Given the description of an element on the screen output the (x, y) to click on. 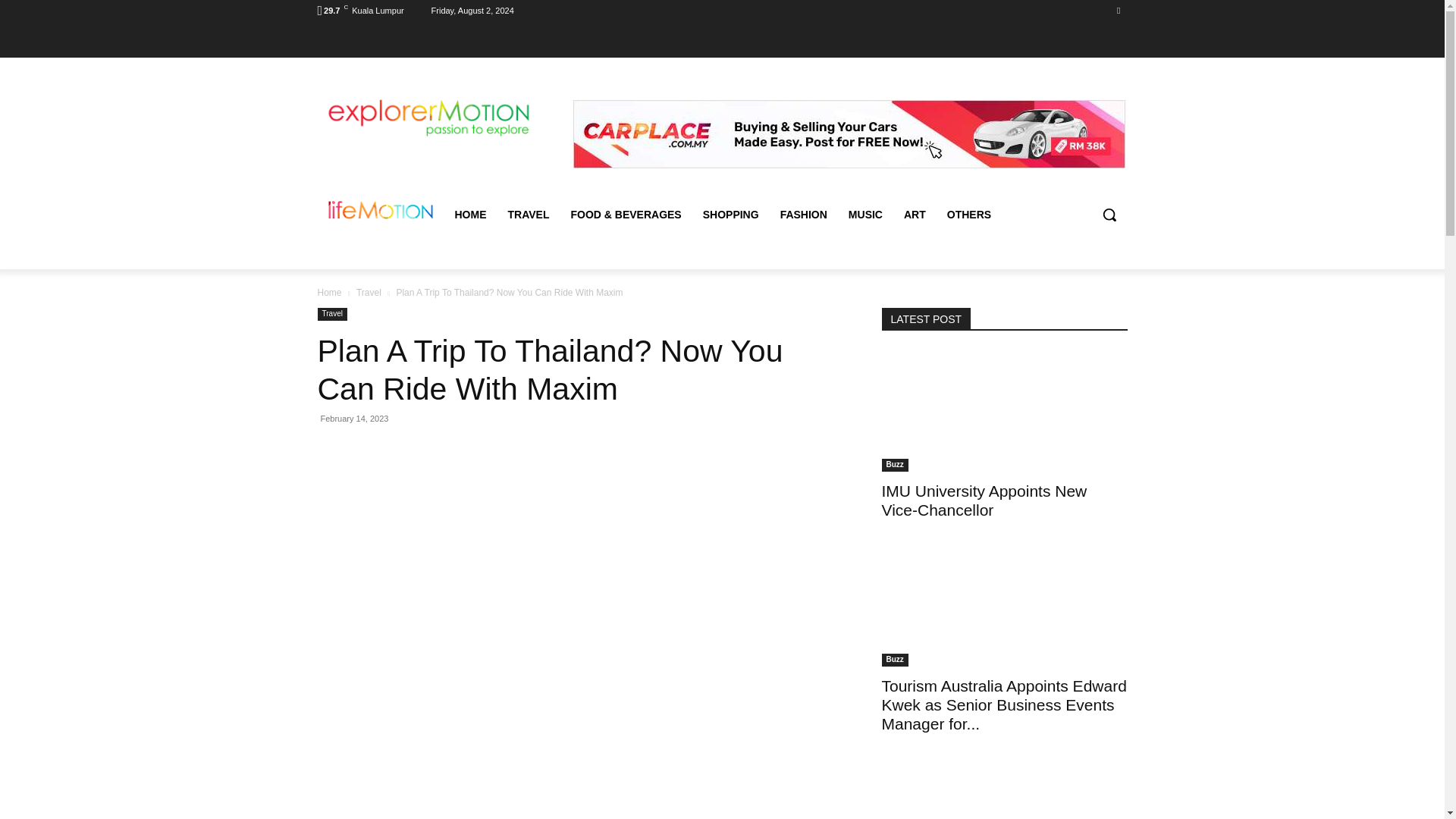
Travel (331, 314)
Travel (368, 291)
SHOPPING (731, 213)
OTHERS (968, 213)
View all posts in Travel (368, 291)
Home (328, 291)
FASHION (804, 213)
ART (914, 213)
HOME (470, 213)
Facebook (1117, 9)
MUSIC (865, 213)
TRAVEL (528, 213)
